Given the description of an element on the screen output the (x, y) to click on. 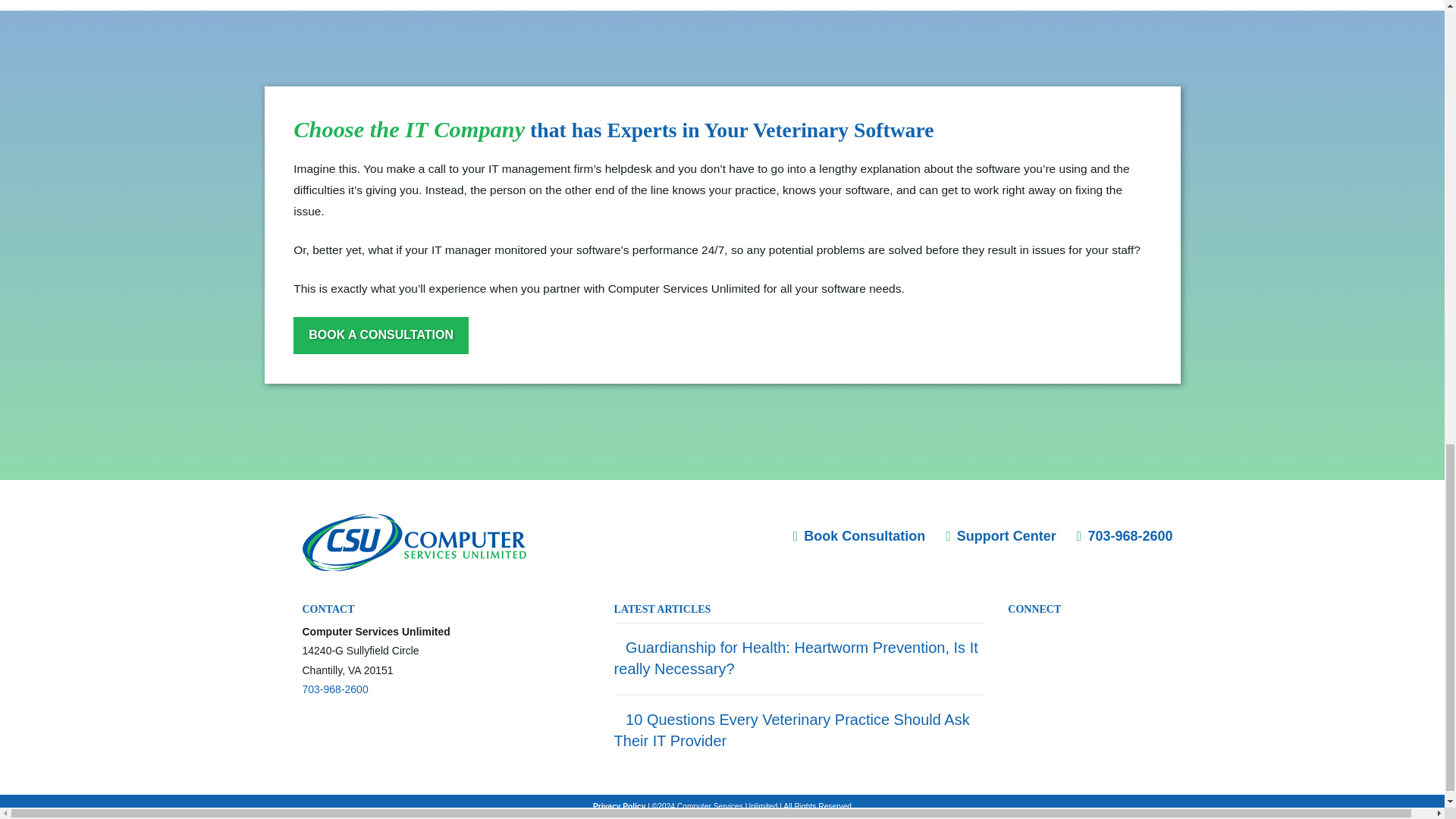
Scroll back to top (1406, 517)
Book Consultation (859, 535)
BOOK A CONSULTATION (381, 334)
703-968-2600 (334, 689)
Privacy Policy (618, 806)
703-968-2600 (1125, 535)
Support Center (1000, 535)
